Given the description of an element on the screen output the (x, y) to click on. 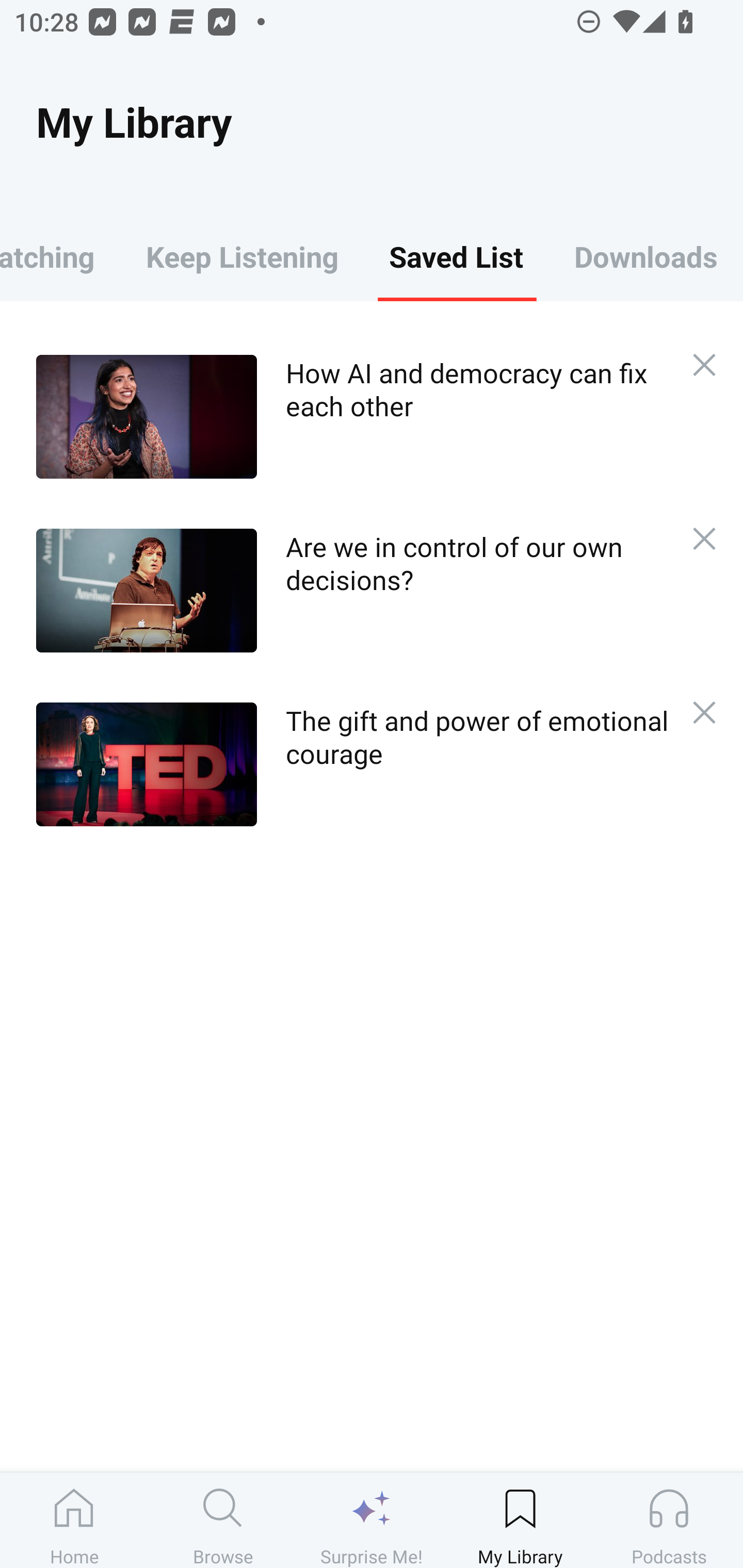
Keep Watching (60, 256)
Keep Listening (242, 256)
Saved List (456, 256)
Downloads (646, 256)
How AI and democracy can fix each other (353, 416)
Are we in control of our own decisions? (353, 590)
The gift and power of emotional courage (353, 764)
Home (74, 1520)
Browse (222, 1520)
Surprise Me! (371, 1520)
My Library (519, 1520)
Podcasts (668, 1520)
